Given the description of an element on the screen output the (x, y) to click on. 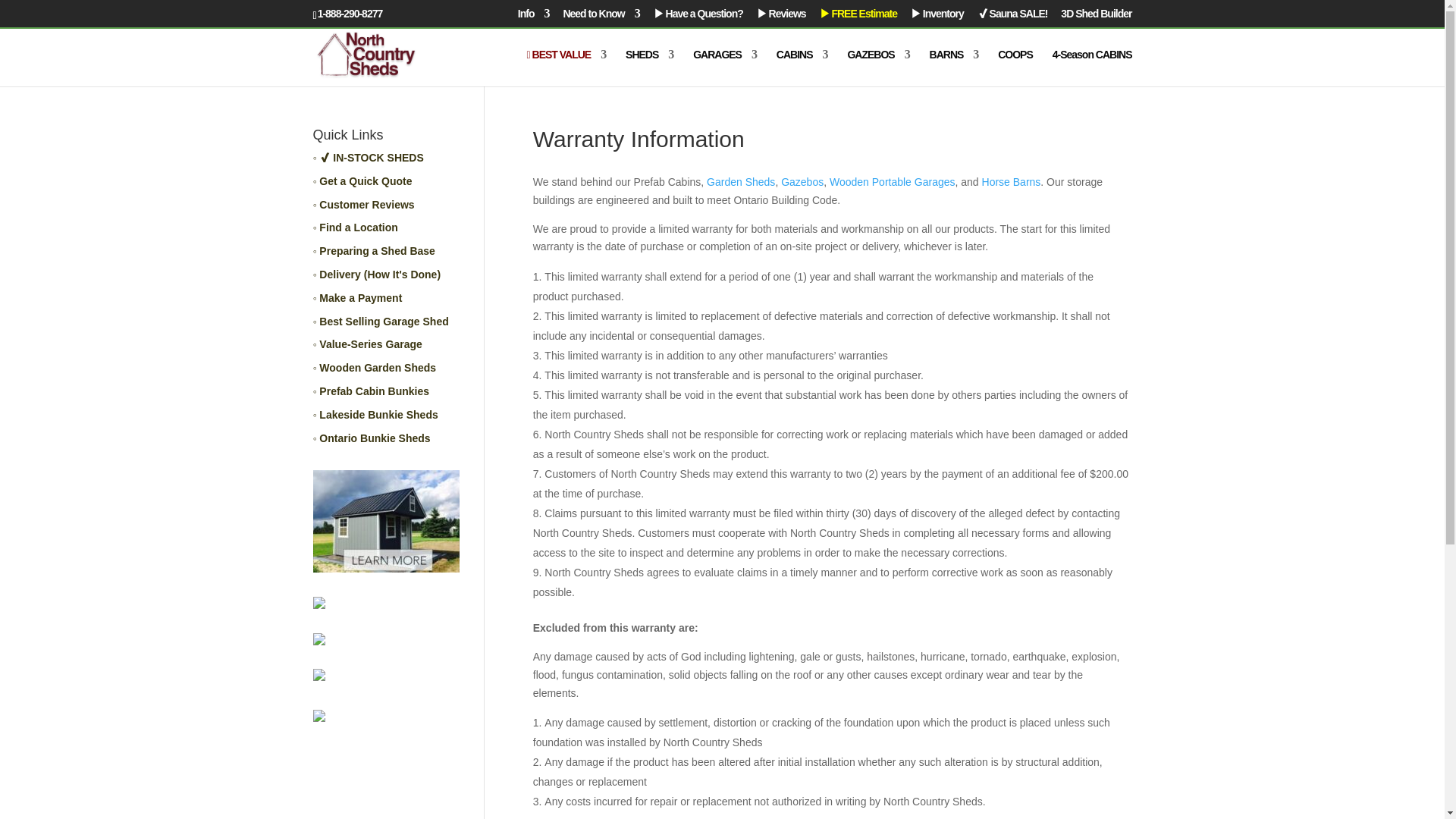
Info (534, 16)
GARAGES (725, 67)
SHEDS (649, 67)
3D Shed Builder (1096, 16)
Need to Know (600, 16)
